Given the description of an element on the screen output the (x, y) to click on. 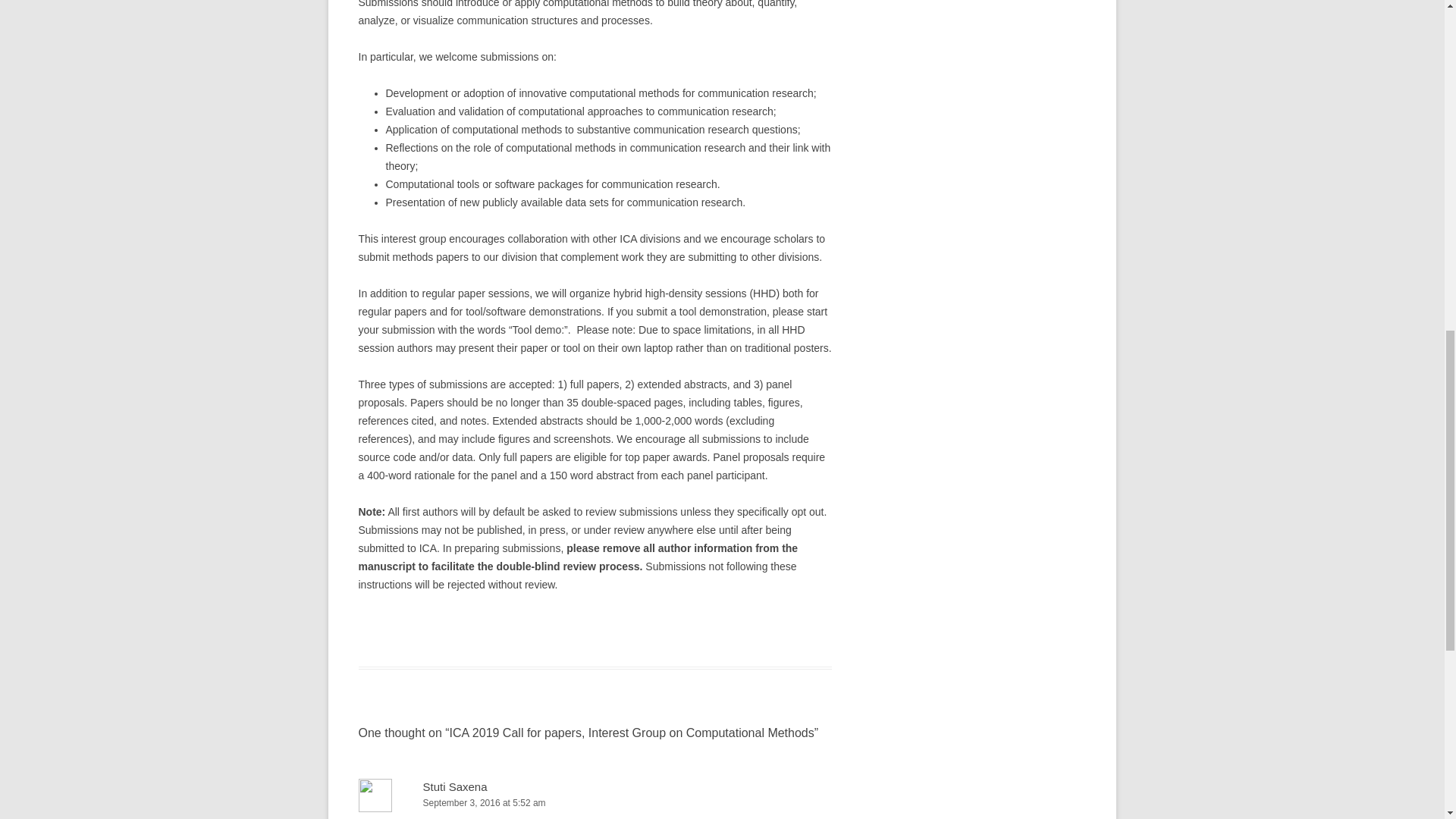
September 3, 2016 at 5:52 am (594, 803)
